Given the description of an element on the screen output the (x, y) to click on. 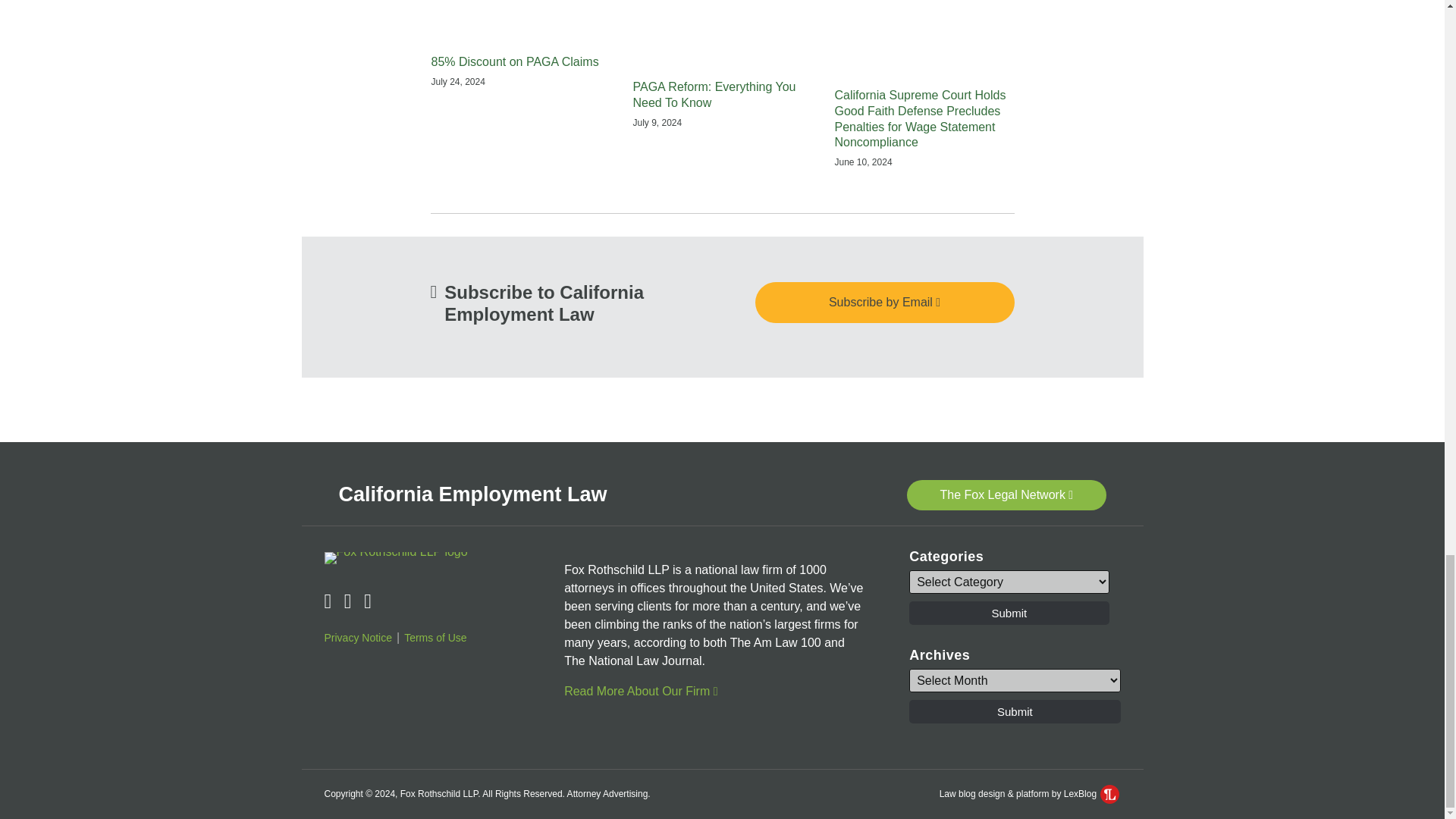
LexBlog Logo (1109, 793)
PAGA Reform: Everything You Need To Know (720, 95)
Submit (1008, 612)
Submit (1013, 711)
